Given the description of an element on the screen output the (x, y) to click on. 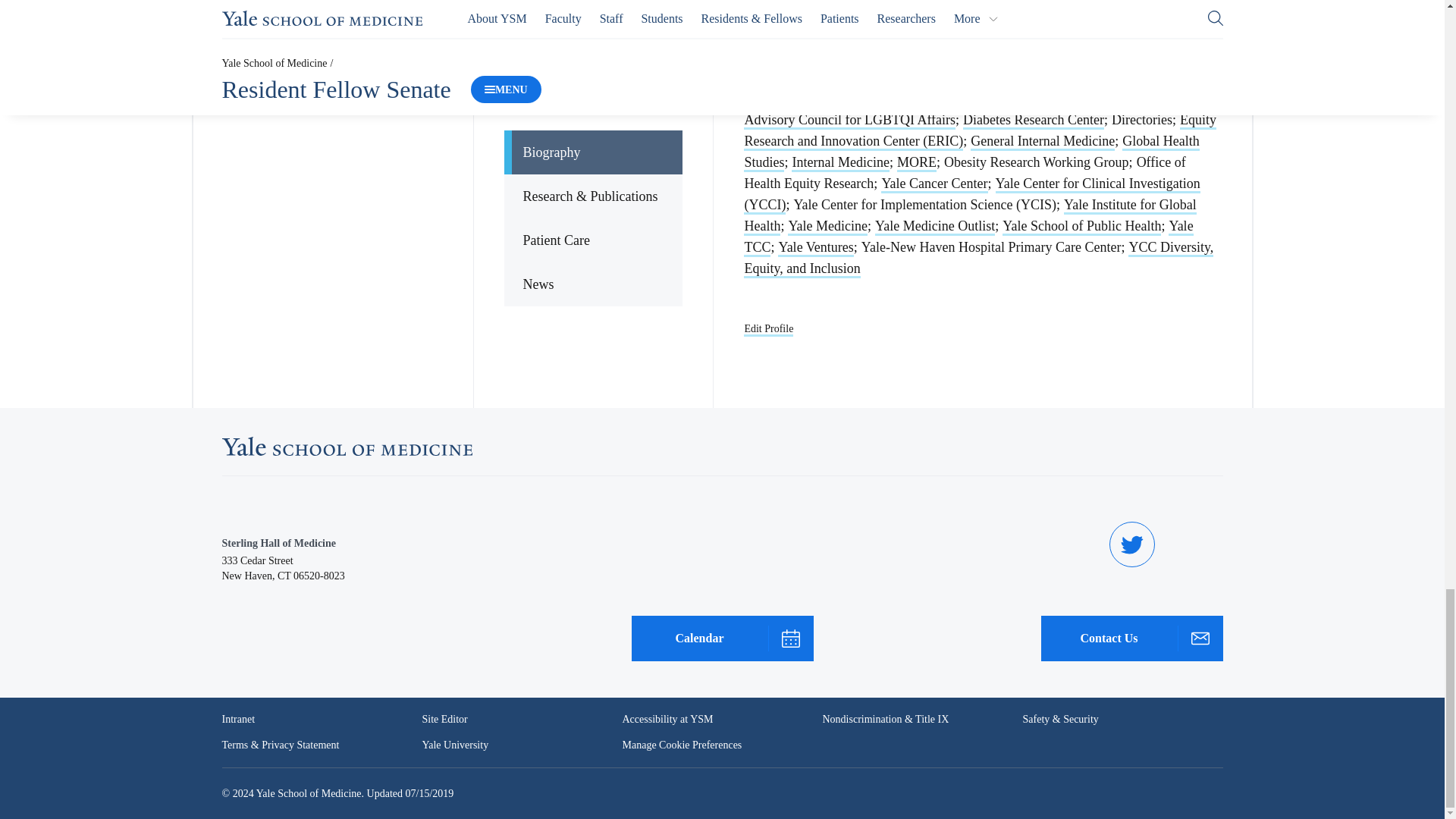
Yale School of Medicine (346, 445)
